Given the description of an element on the screen output the (x, y) to click on. 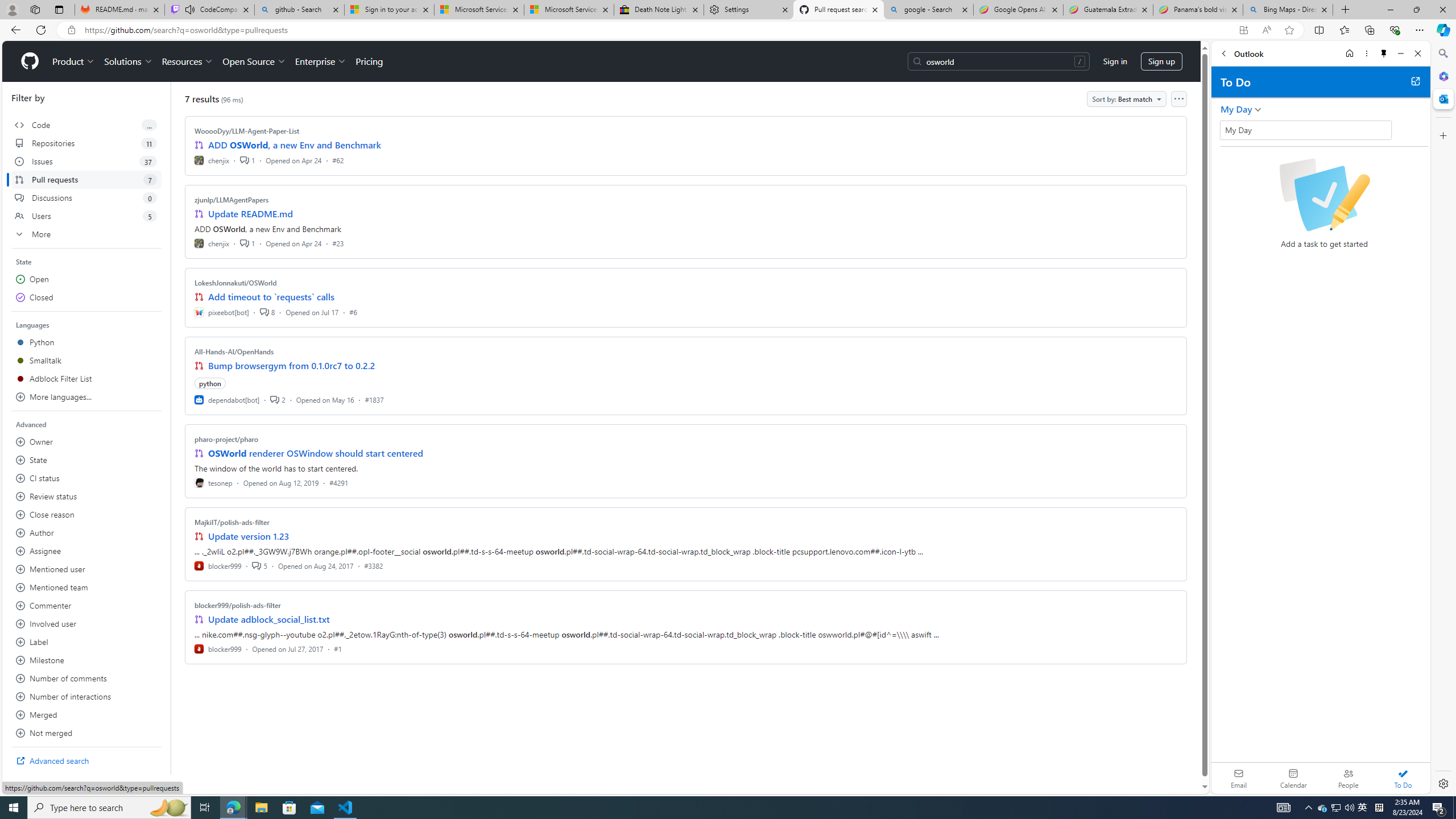
Resources (187, 60)
Sign in to your account (389, 9)
Add a task (1334, 133)
#1837 (374, 398)
My Day (1236, 109)
Add timeout to `requests` calls (271, 296)
